Given the description of an element on the screen output the (x, y) to click on. 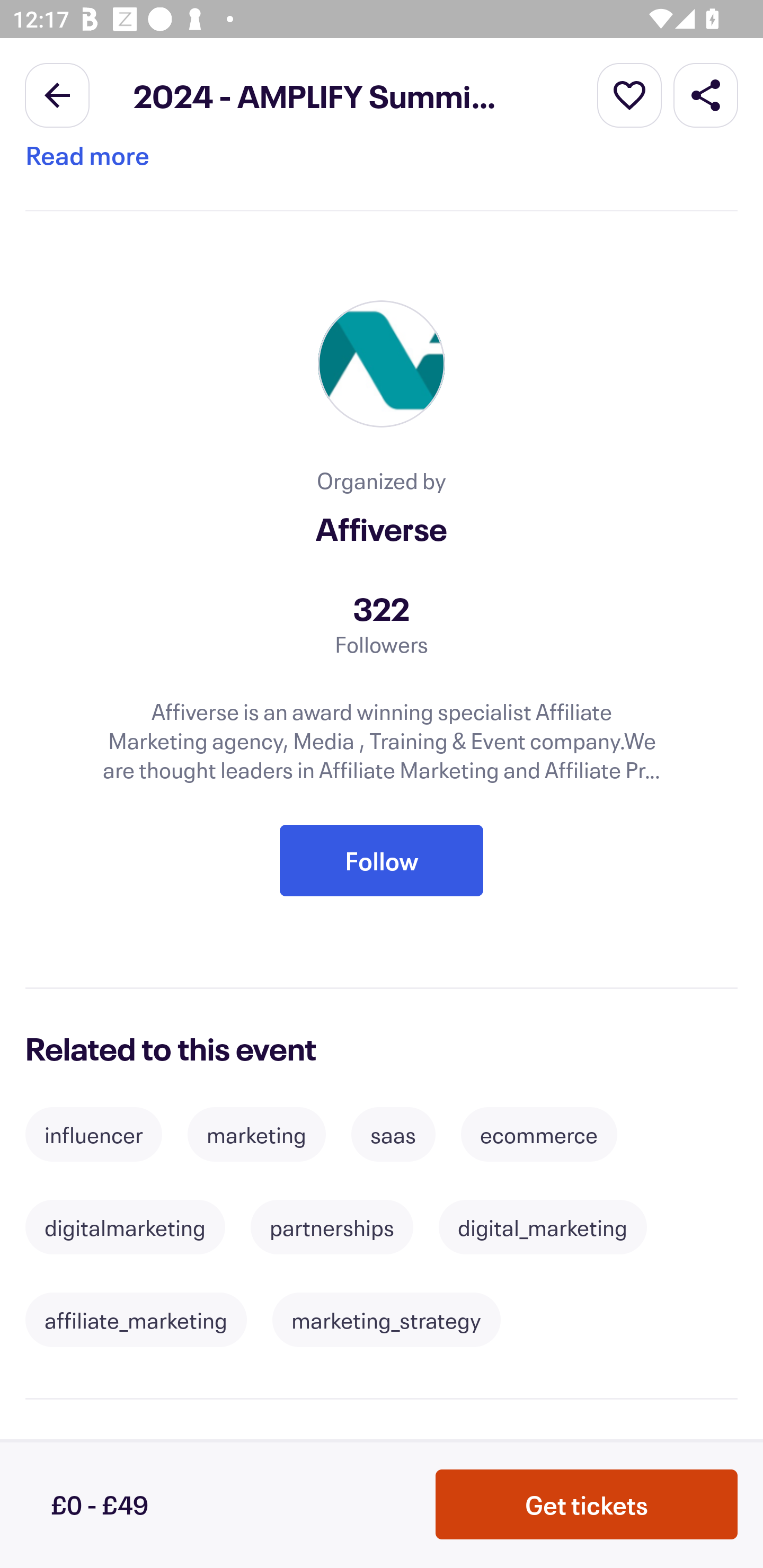
Back (57, 94)
More (629, 94)
Share (705, 94)
Read more (87, 165)
Organizer profile picture (381, 364)
Affiverse (381, 528)
Follow (381, 860)
influencer (93, 1134)
marketing (256, 1134)
saas (392, 1134)
ecommerce (538, 1134)
digitalmarketing (125, 1226)
partnerships (331, 1226)
digital_marketing (542, 1226)
affiliate_marketing (136, 1319)
marketing_strategy (386, 1319)
Get tickets (586, 1504)
